Given the description of an element on the screen output the (x, y) to click on. 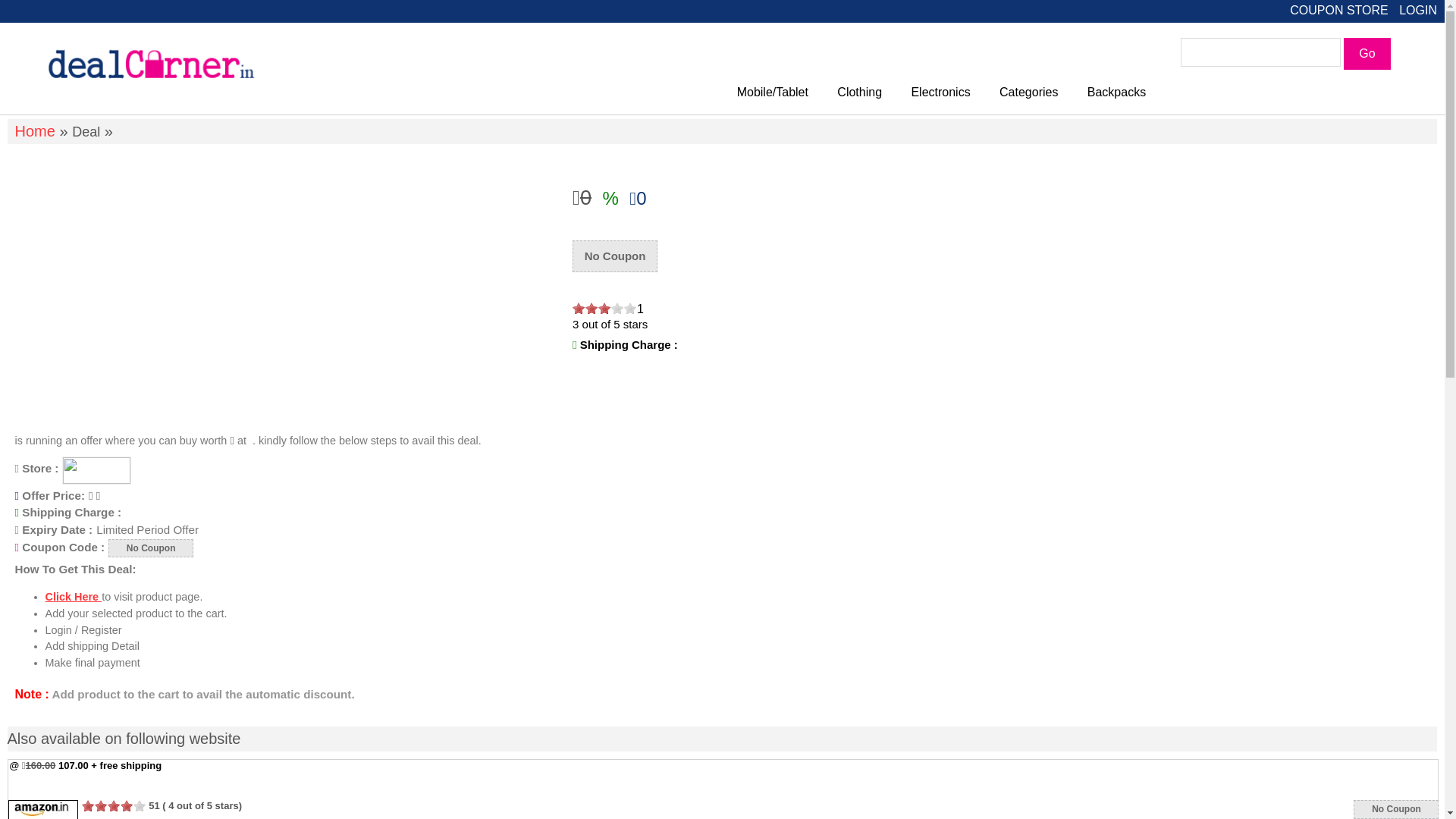
Clothing (859, 91)
Categories (1029, 91)
Go (1366, 53)
COUPON STORE (1339, 10)
Go (1366, 53)
LOGIN (1418, 10)
Electronics (940, 91)
